Given the description of an element on the screen output the (x, y) to click on. 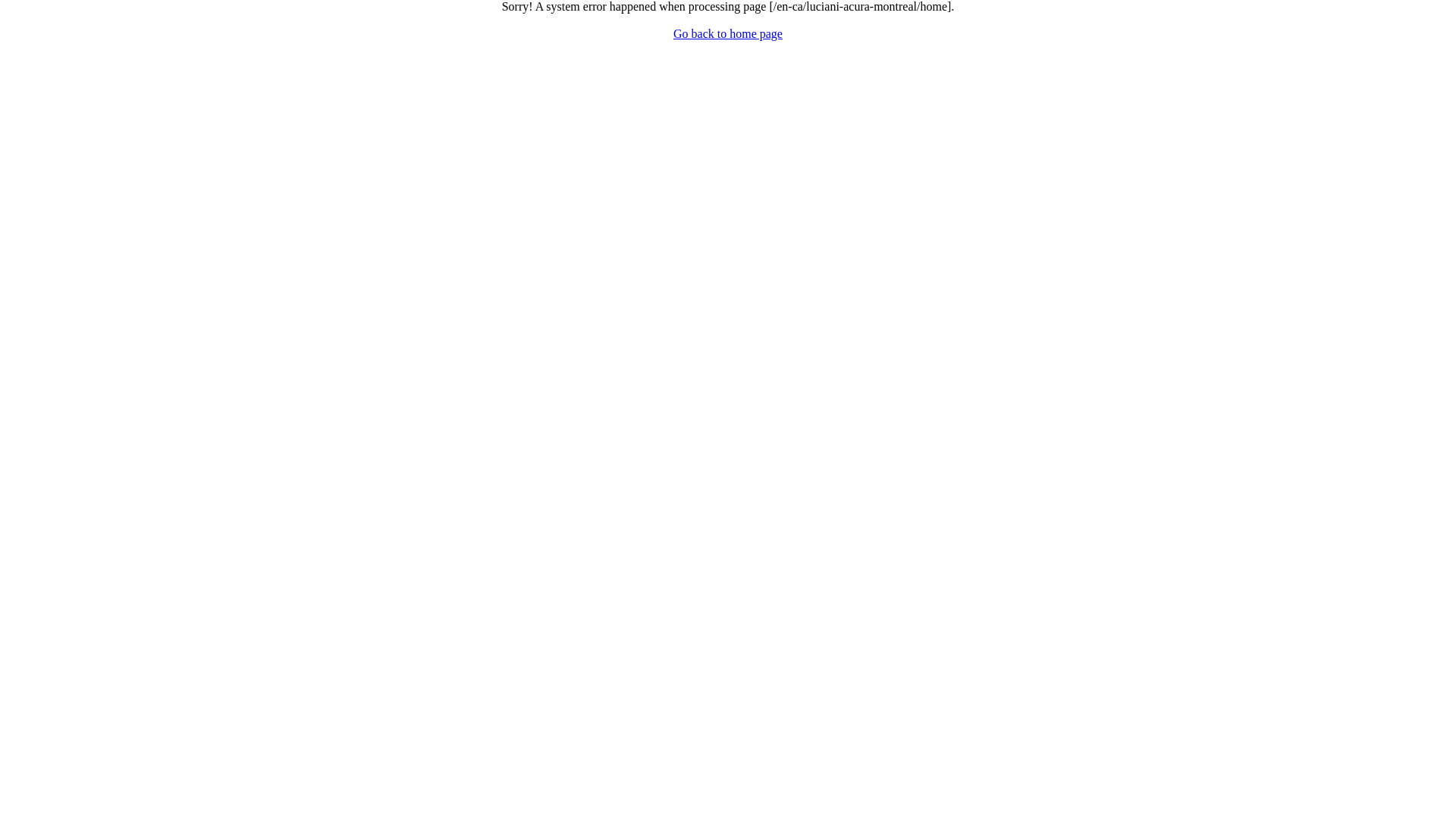
Go back to home page Element type: text (727, 33)
